Given the description of an element on the screen output the (x, y) to click on. 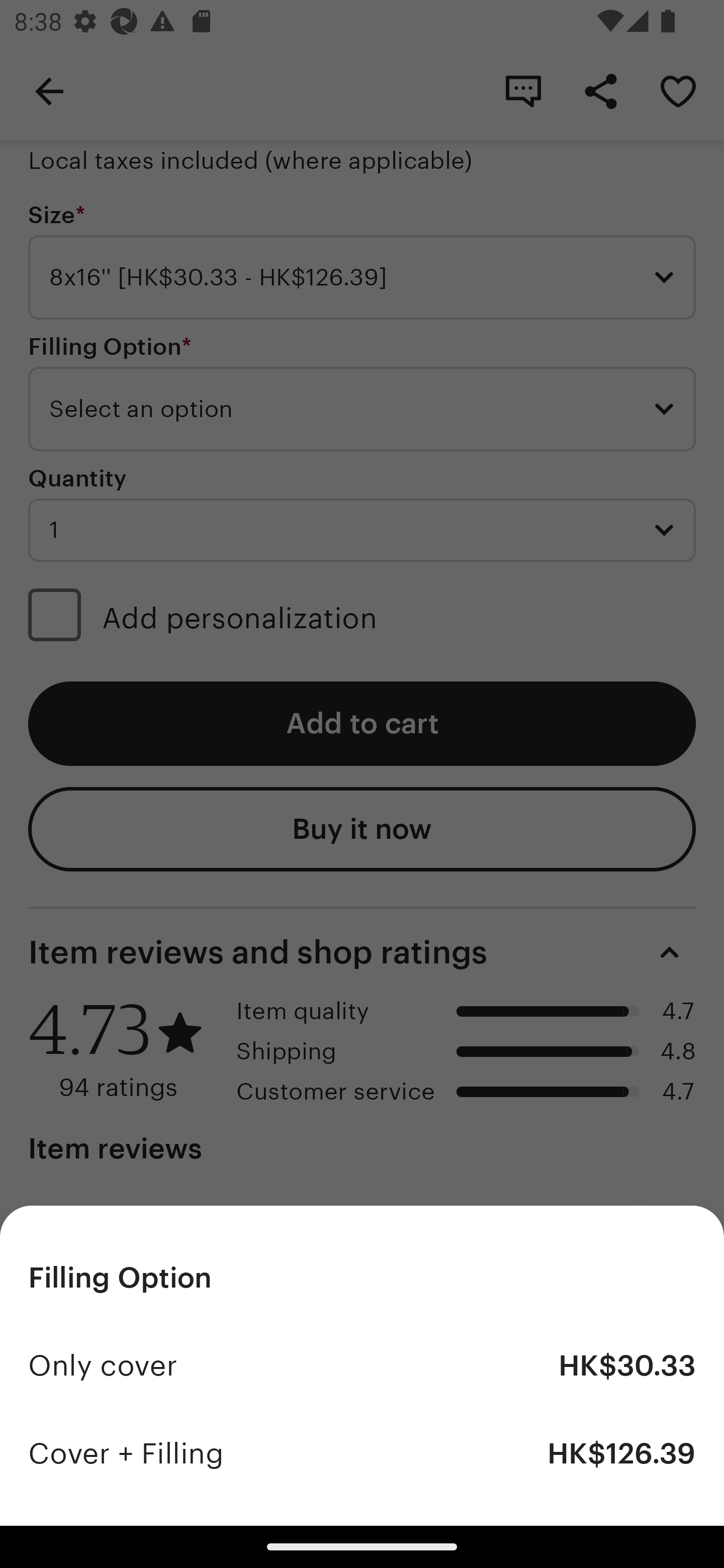
Only cover HK$30.33 (362, 1365)
Cover + Filling HK$126.39 (362, 1453)
